Given the description of an element on the screen output the (x, y) to click on. 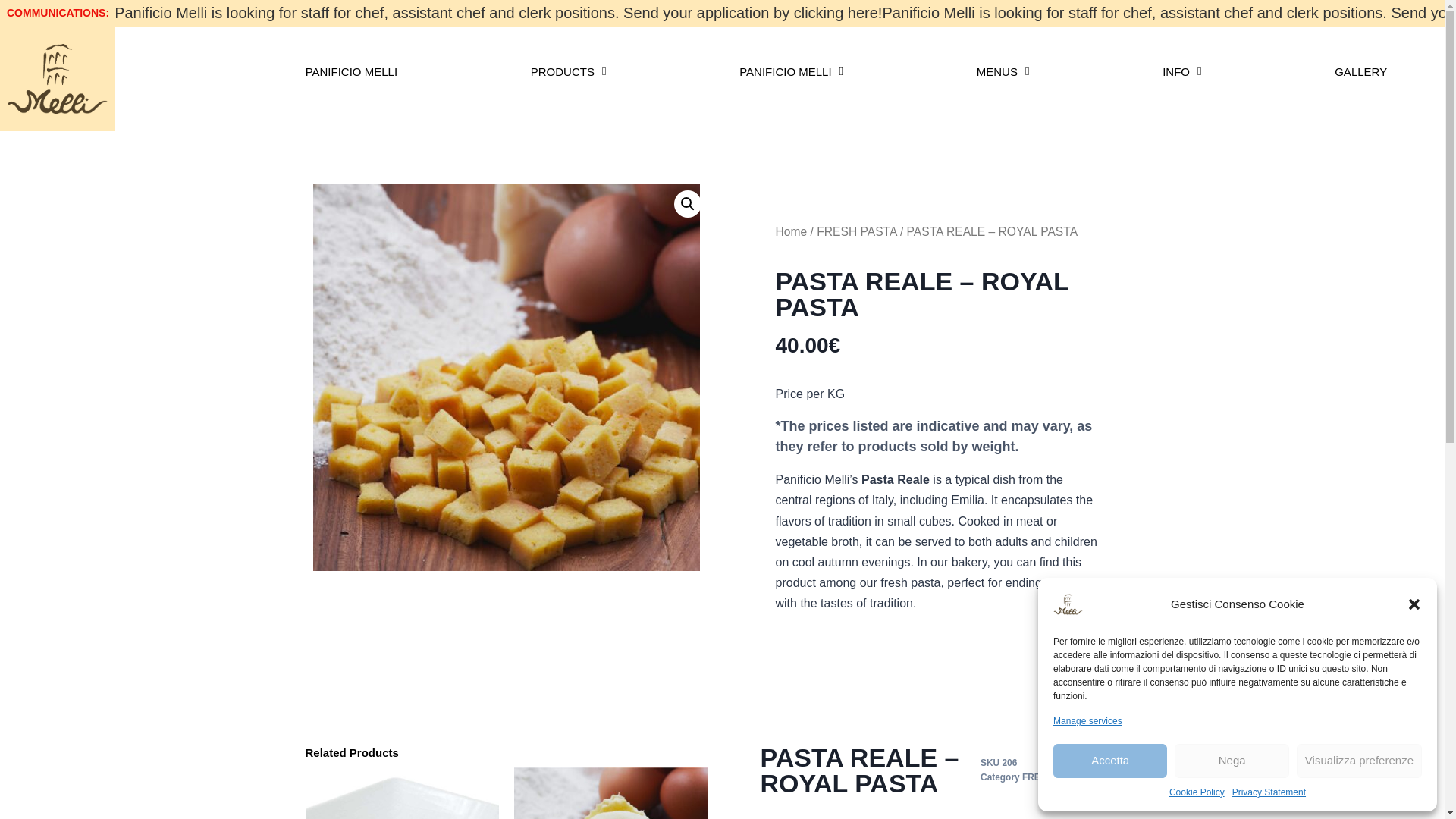
PRODUCTS (568, 71)
Nega (1231, 760)
INFO (1182, 71)
PANIFICIO MELLI (350, 71)
Accetta (1109, 760)
Visualizza preferenze (1359, 760)
PANIFICIO MELLI (791, 71)
Cookie Policy (1196, 792)
MENUS (1002, 71)
Manage services (1087, 721)
Privacy Statement (1268, 792)
